Given the description of an element on the screen output the (x, y) to click on. 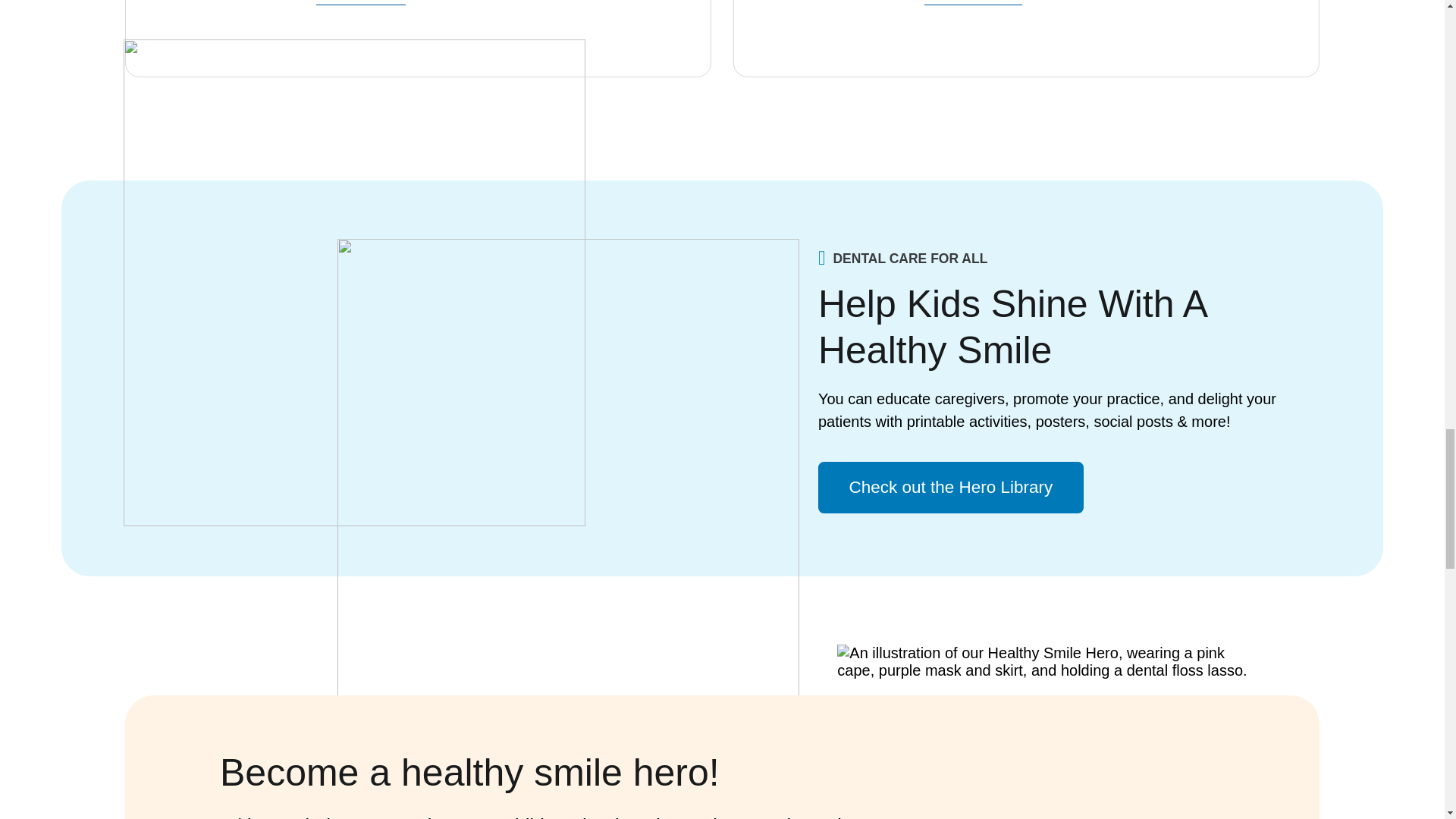
See All Events (973, 2)
Check out the Hero Library (950, 487)
See All News (360, 2)
